Given the description of an element on the screen output the (x, y) to click on. 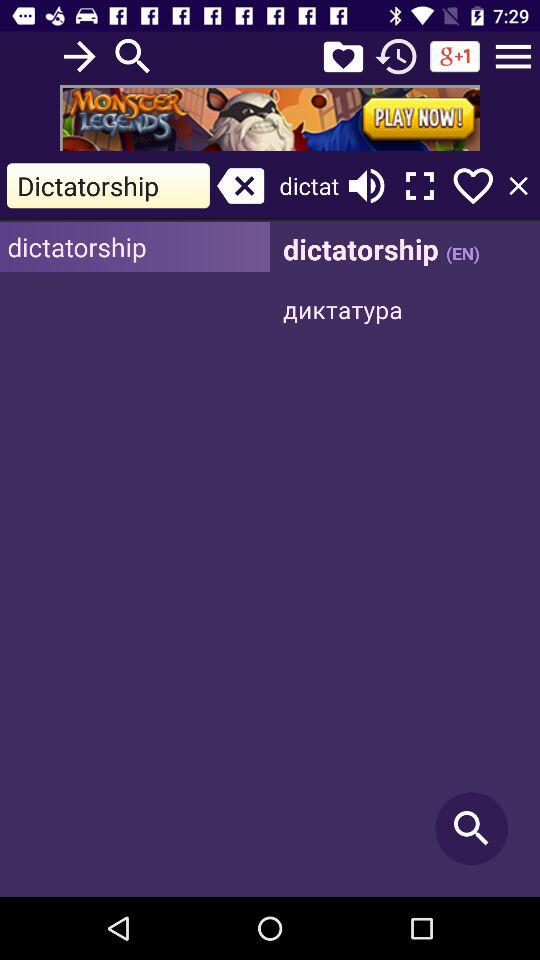
go to favorites (343, 56)
